Given the description of an element on the screen output the (x, y) to click on. 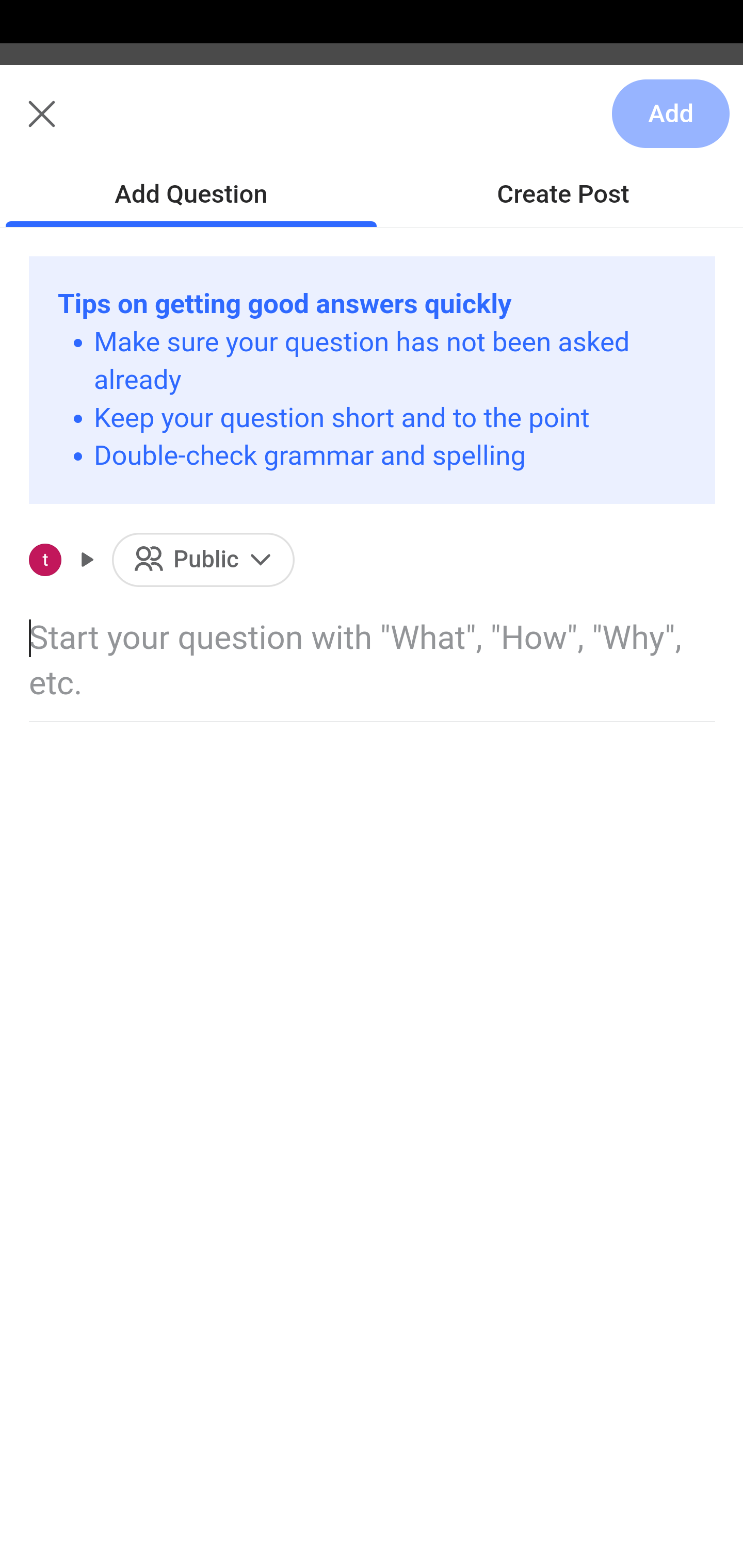
Me Following Search Add (371, 125)
Me (64, 125)
